Given the description of an element on the screen output the (x, y) to click on. 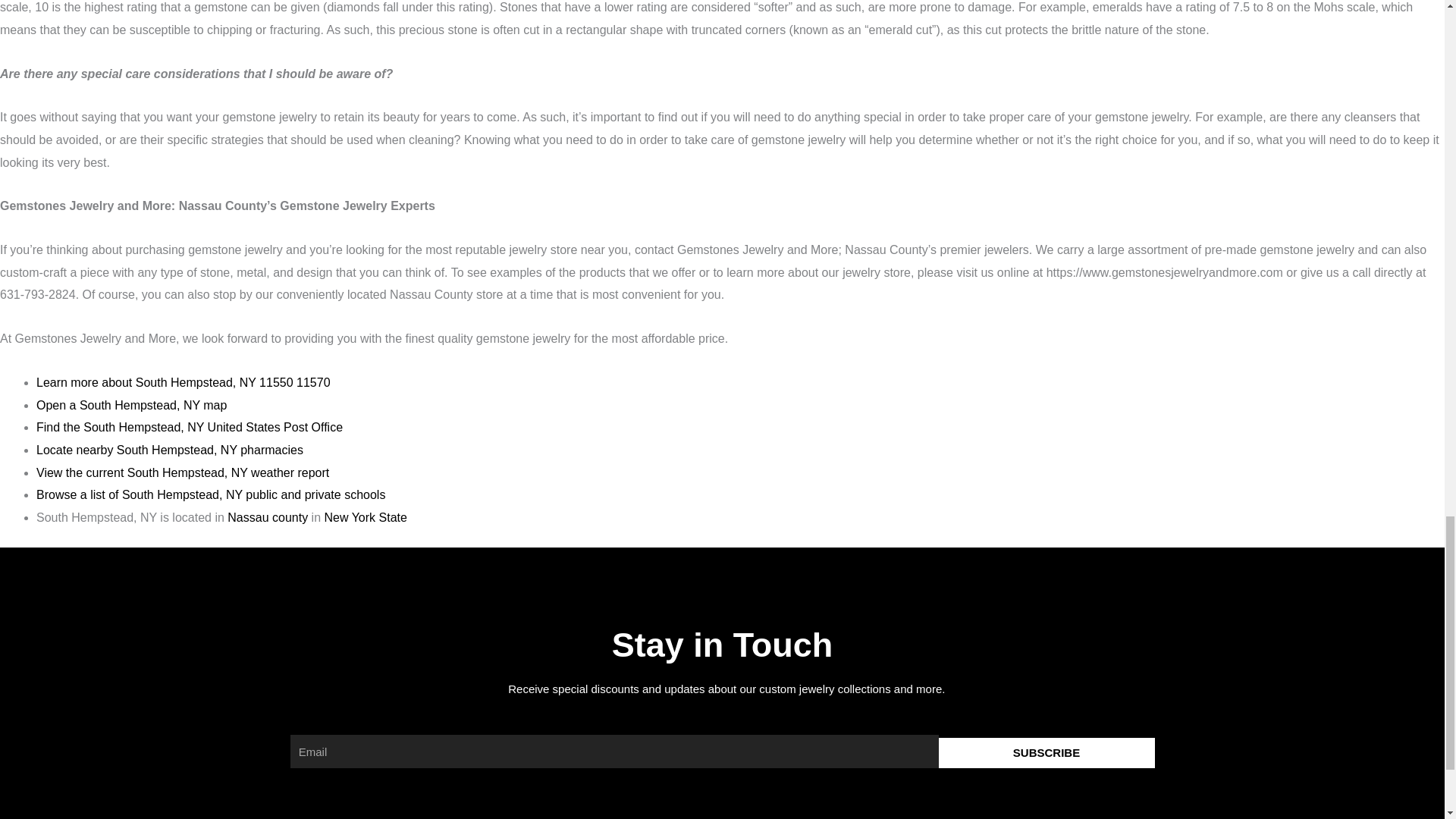
View the current South Hempstead, NY weather report (182, 472)
Nassau county (267, 517)
Learn more about South Hempstead, NY 11550 11570 (183, 382)
New York State (364, 517)
Open a South Hempstead, NY map (131, 404)
SUBSCRIBE (1046, 752)
Find the South Hempstead, NY United States Post Office (189, 427)
Locate nearby South Hempstead, NY pharmacies (169, 449)
